Given the description of an element on the screen output the (x, y) to click on. 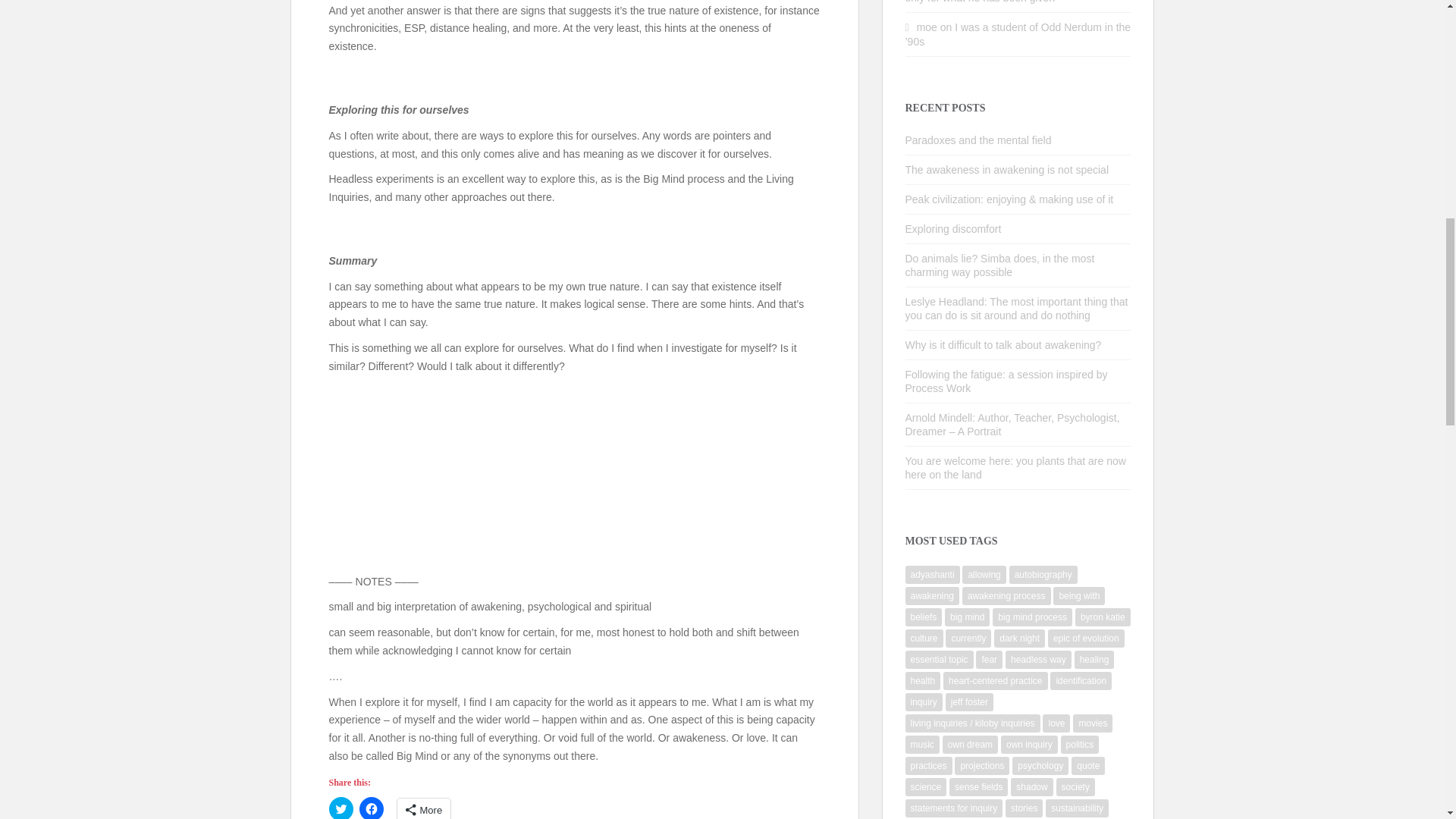
Click to share on Facebook (371, 807)
Click to share on Twitter (341, 807)
More (424, 808)
